Given the description of an element on the screen output the (x, y) to click on. 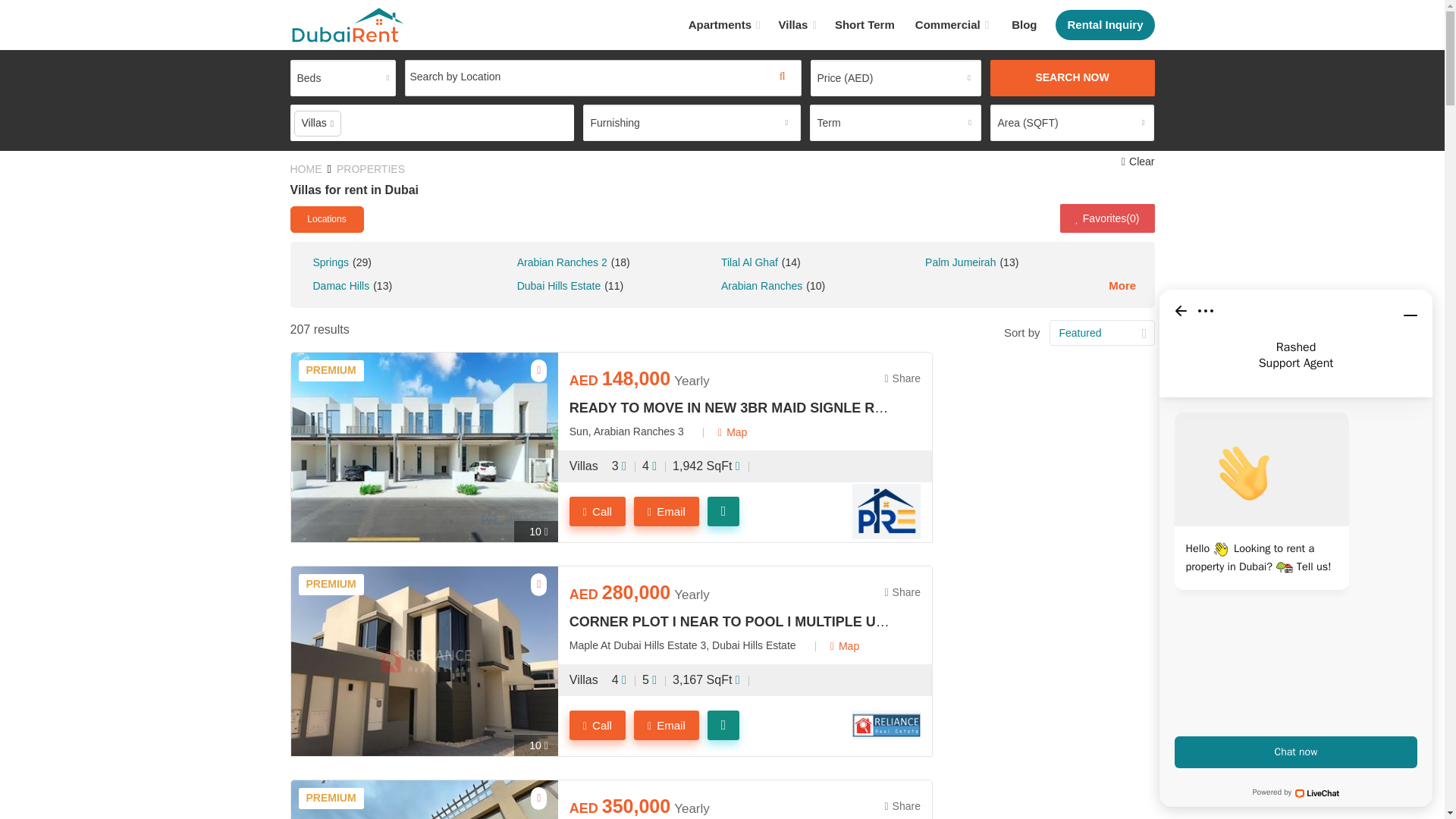
CORNER PLOT I NEAR TO POOL l MULTIPLE UNITS starts at 220k (730, 622)
READY TO MOVE IN NEW 3BR MAID SIGNLE ROW (730, 408)
Built up area (707, 465)
Apartments (724, 24)
Featured (1101, 332)
Built up area (707, 680)
